Given the description of an element on the screen output the (x, y) to click on. 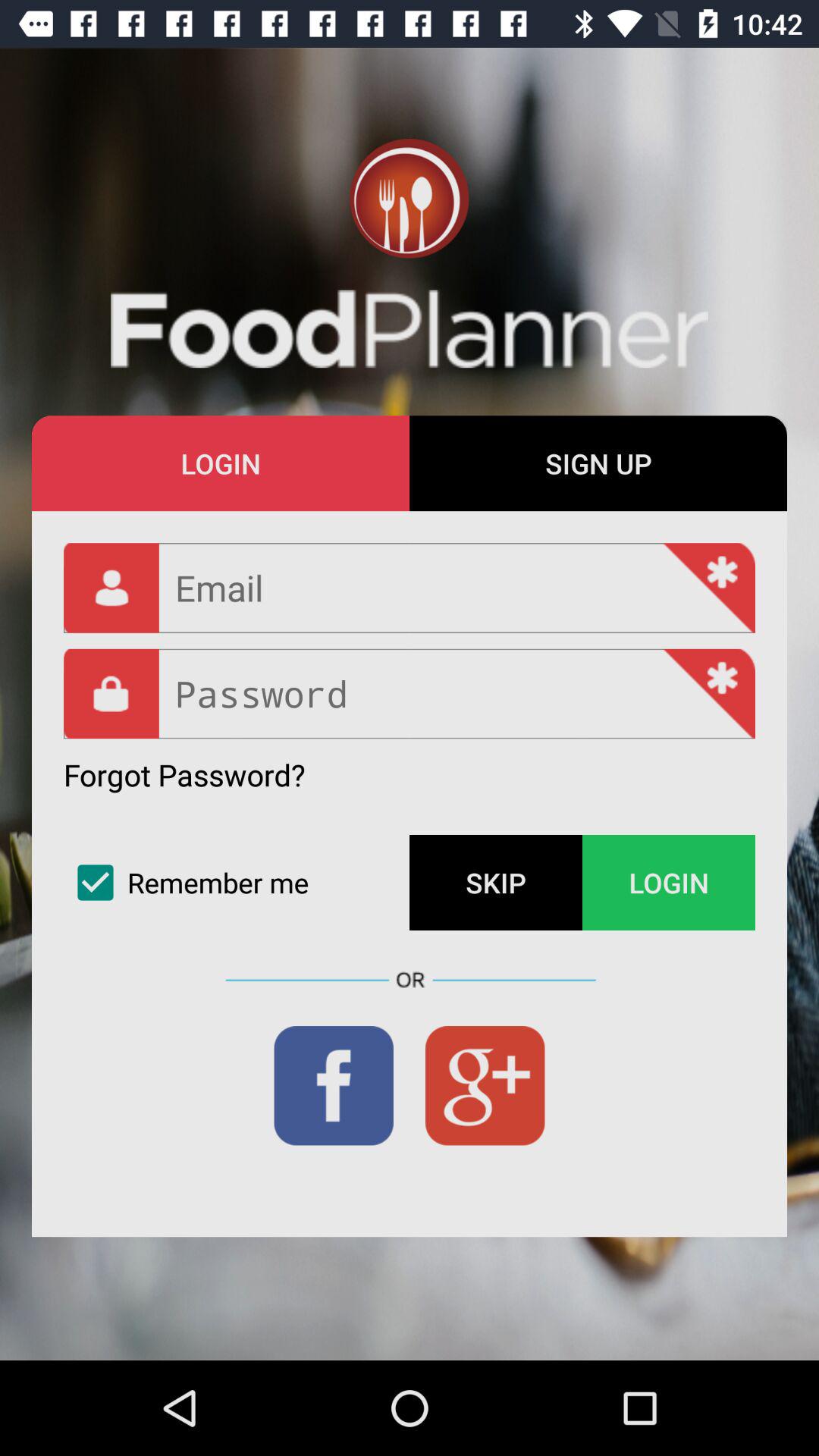
press the item to the left of login item (495, 882)
